Given the description of an element on the screen output the (x, y) to click on. 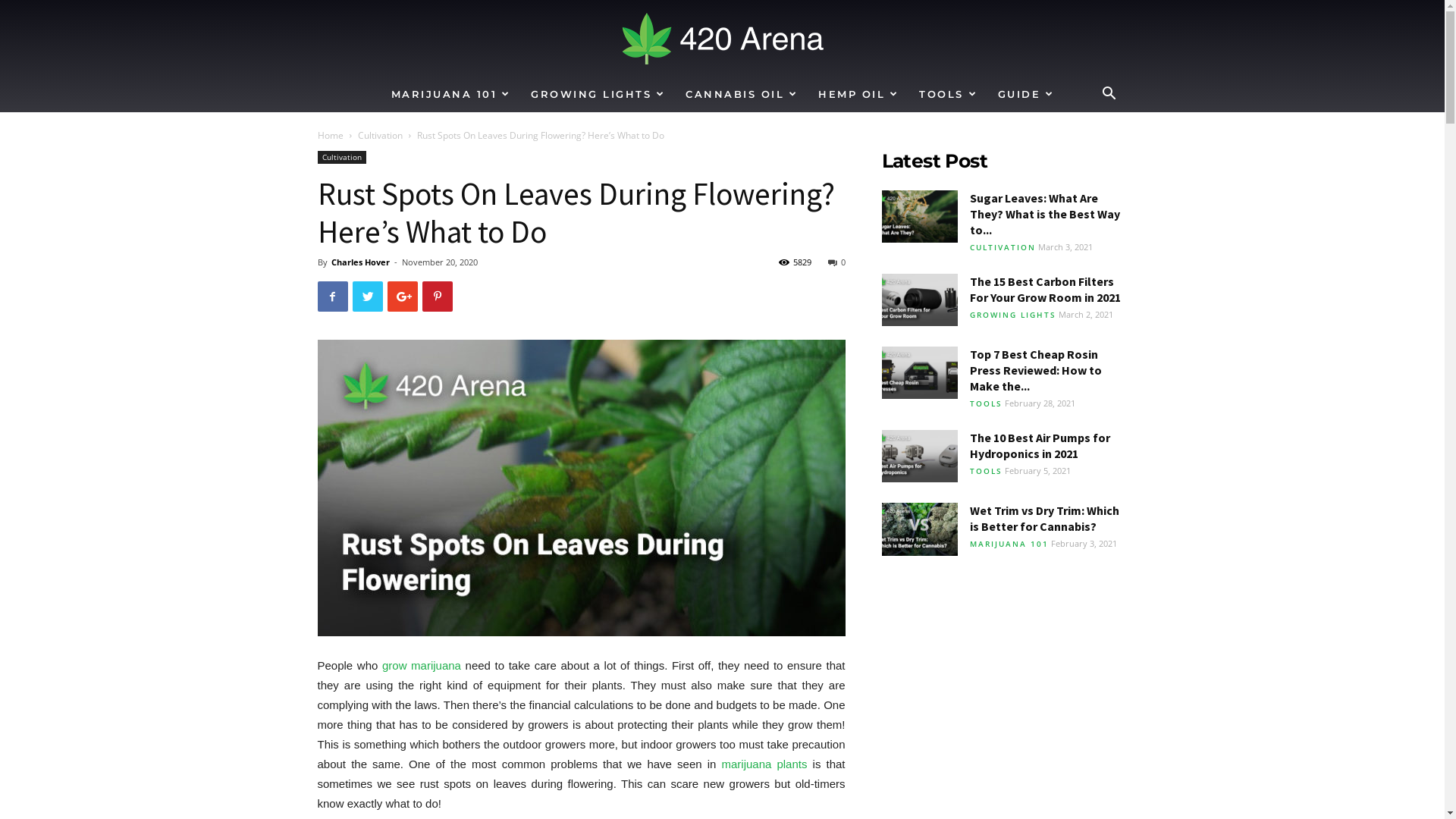
Charles Hover Element type: text (359, 261)
Home Element type: text (329, 134)
HEMP OIL Element type: text (857, 93)
marijuana plants Element type: text (763, 763)
Sugar Leaves: What Are They? What is the Best Way to... Element type: text (1044, 213)
GUIDE Element type: text (1025, 93)
Cultivation Element type: text (379, 134)
grow marijuana Element type: text (421, 664)
420 Arena Element type: text (722, 38)
TOOLS Element type: text (985, 403)
The 15 Best Carbon Filters For Your Grow Room in 2021 Element type: text (1044, 288)
GROWING LIGHTS Element type: text (597, 93)
The 10 Best Air Pumps for Hydroponics in 2021 Element type: hover (919, 455)
MARIJUANA 101 Element type: text (1008, 543)
Top 7 Best Cheap Rosin Press Reviewed: How to Make the... Element type: text (1035, 369)
0 Element type: text (836, 261)
Rust Spots On Leaves During Flowering Element type: hover (580, 487)
The 15 Best Carbon Filters For Your Grow Room in 2021 Element type: hover (919, 299)
Wet Trim vs Dry Trim: Which is Better for Cannabis? Element type: text (1043, 517)
CANNABIS OIL Element type: text (740, 93)
The 10 Best Air Pumps for Hydroponics in 2021 Element type: text (1039, 445)
Search Element type: text (1085, 154)
Cultivation Element type: text (340, 156)
MARIJUANA 101 Element type: text (450, 93)
TOOLS Element type: text (985, 470)
TOOLS Element type: text (947, 93)
CULTIVATION Element type: text (1002, 247)
GROWING LIGHTS Element type: text (1012, 314)
Wet Trim vs Dry Trim: Which is Better for Cannabis? Element type: hover (919, 528)
